Given the description of an element on the screen output the (x, y) to click on. 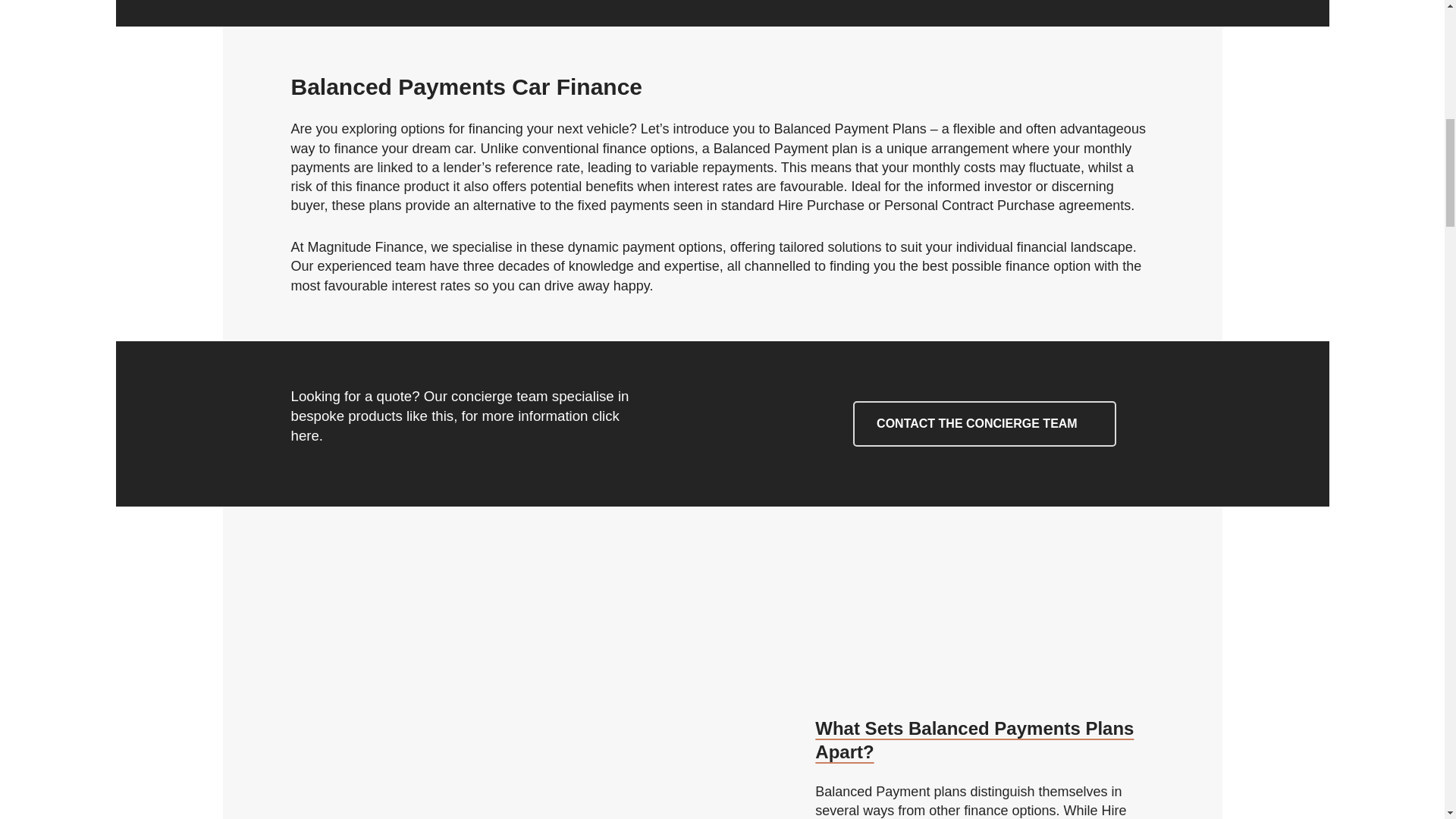
CONTACT THE CONCIERGE TEAM (984, 423)
Hire Purchase (820, 205)
Personal Contract Purchase (968, 205)
